Given the description of an element on the screen output the (x, y) to click on. 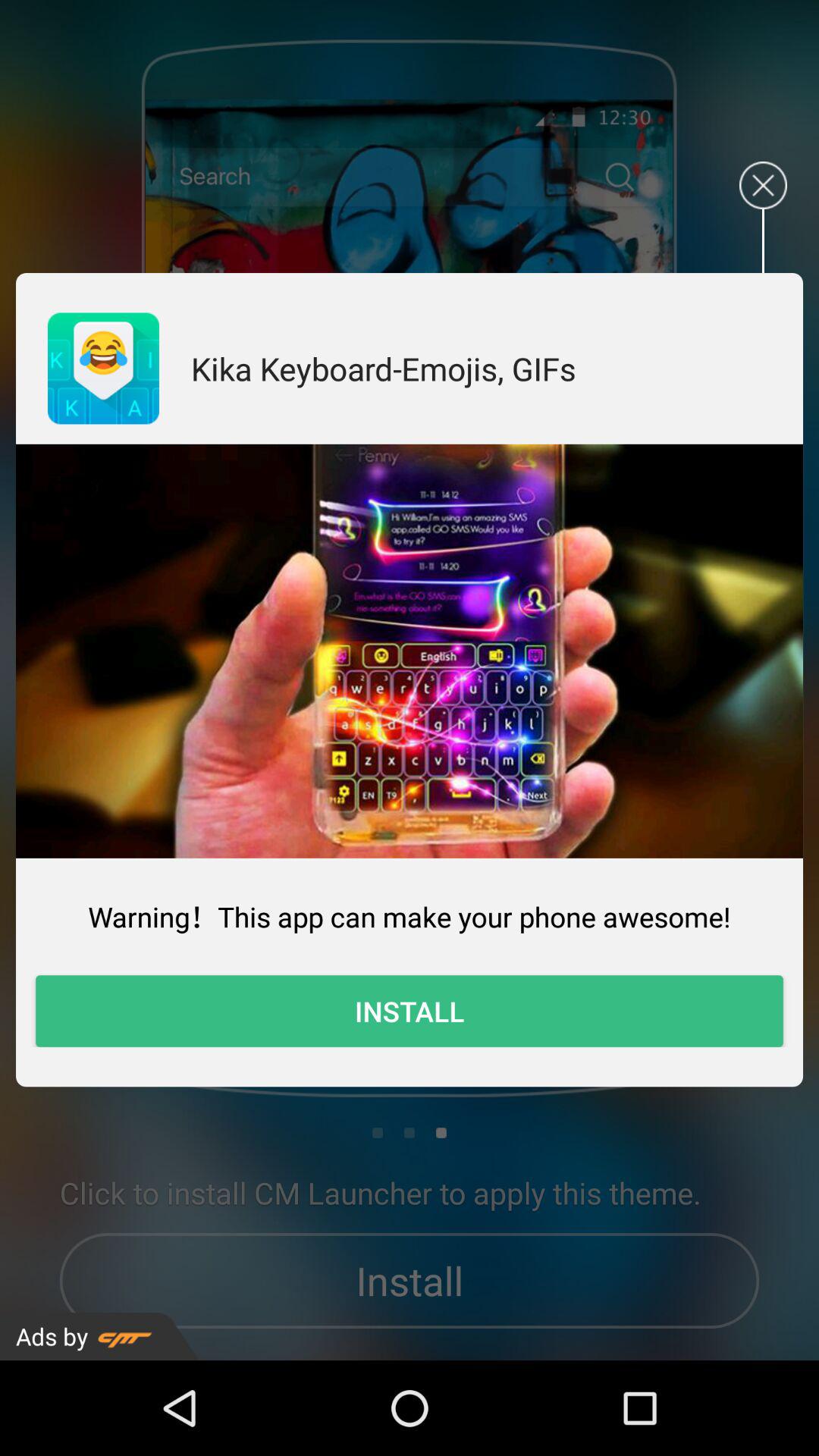
open icon at the top left corner (103, 368)
